Given the description of an element on the screen output the (x, y) to click on. 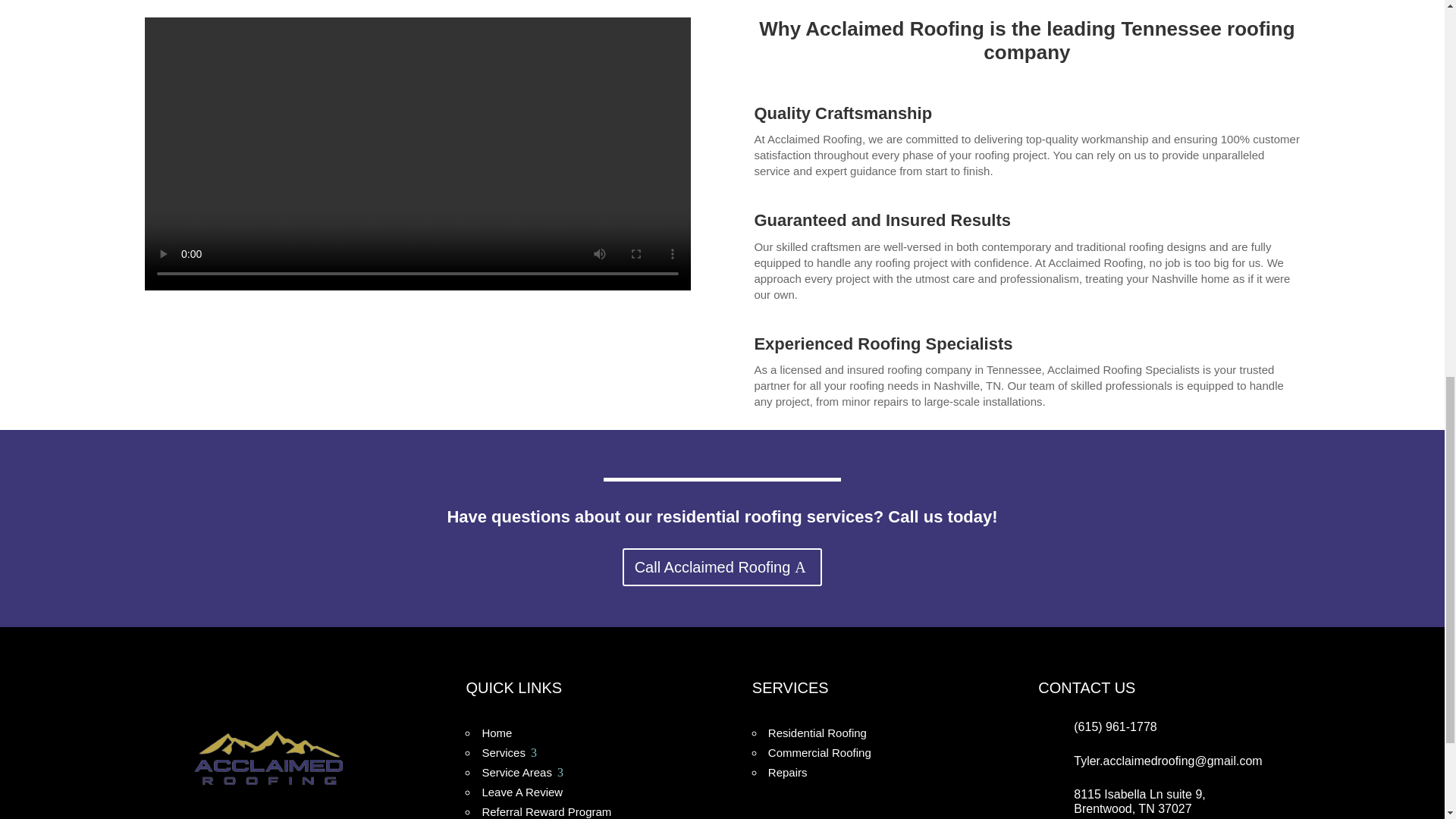
Home (509, 752)
Call Acclaimed Roofing (496, 732)
